Given the description of an element on the screen output the (x, y) to click on. 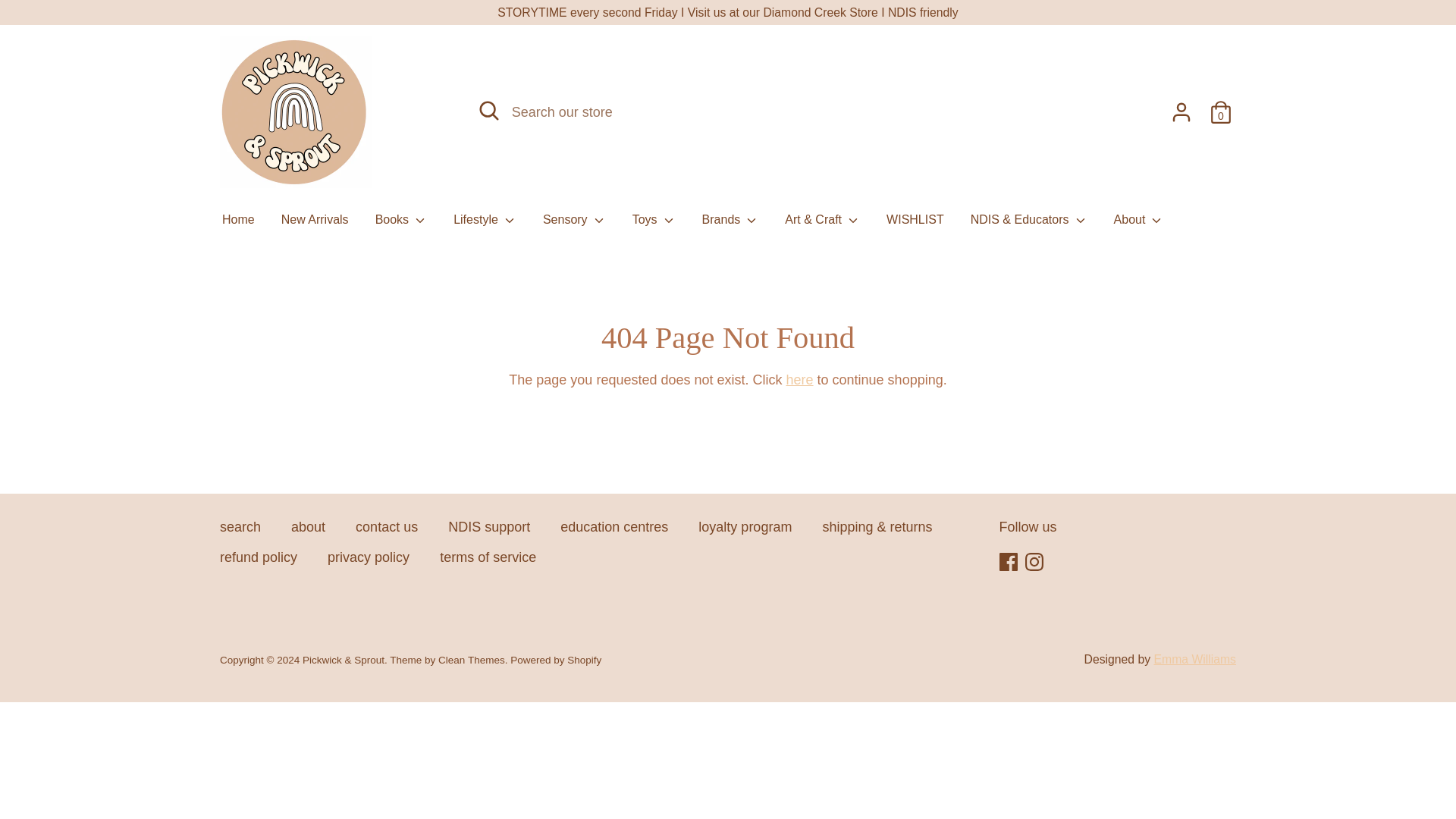
0 (1220, 107)
